Given the description of an element on the screen output the (x, y) to click on. 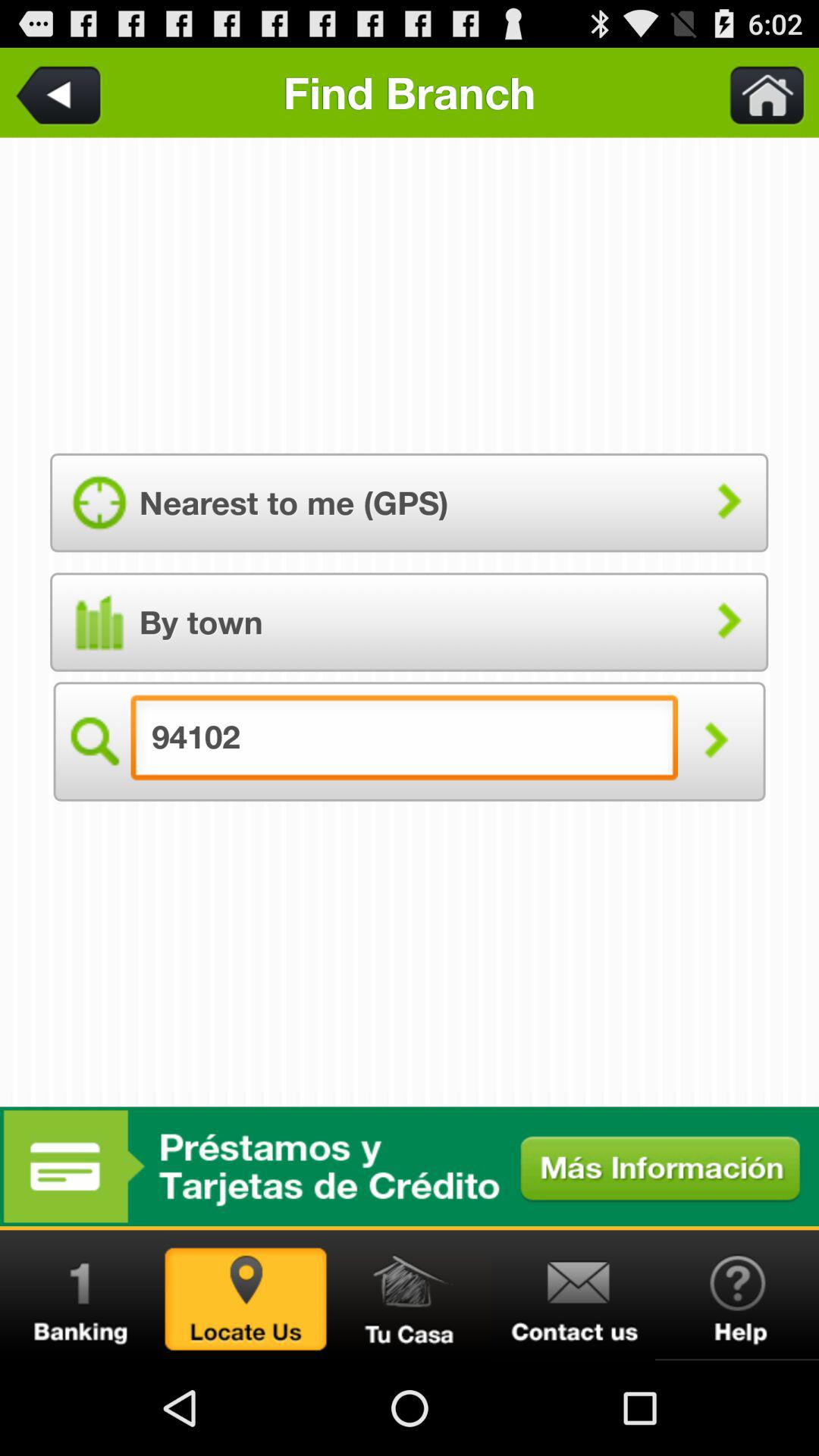
search zip code (715, 741)
